Given the description of an element on the screen output the (x, y) to click on. 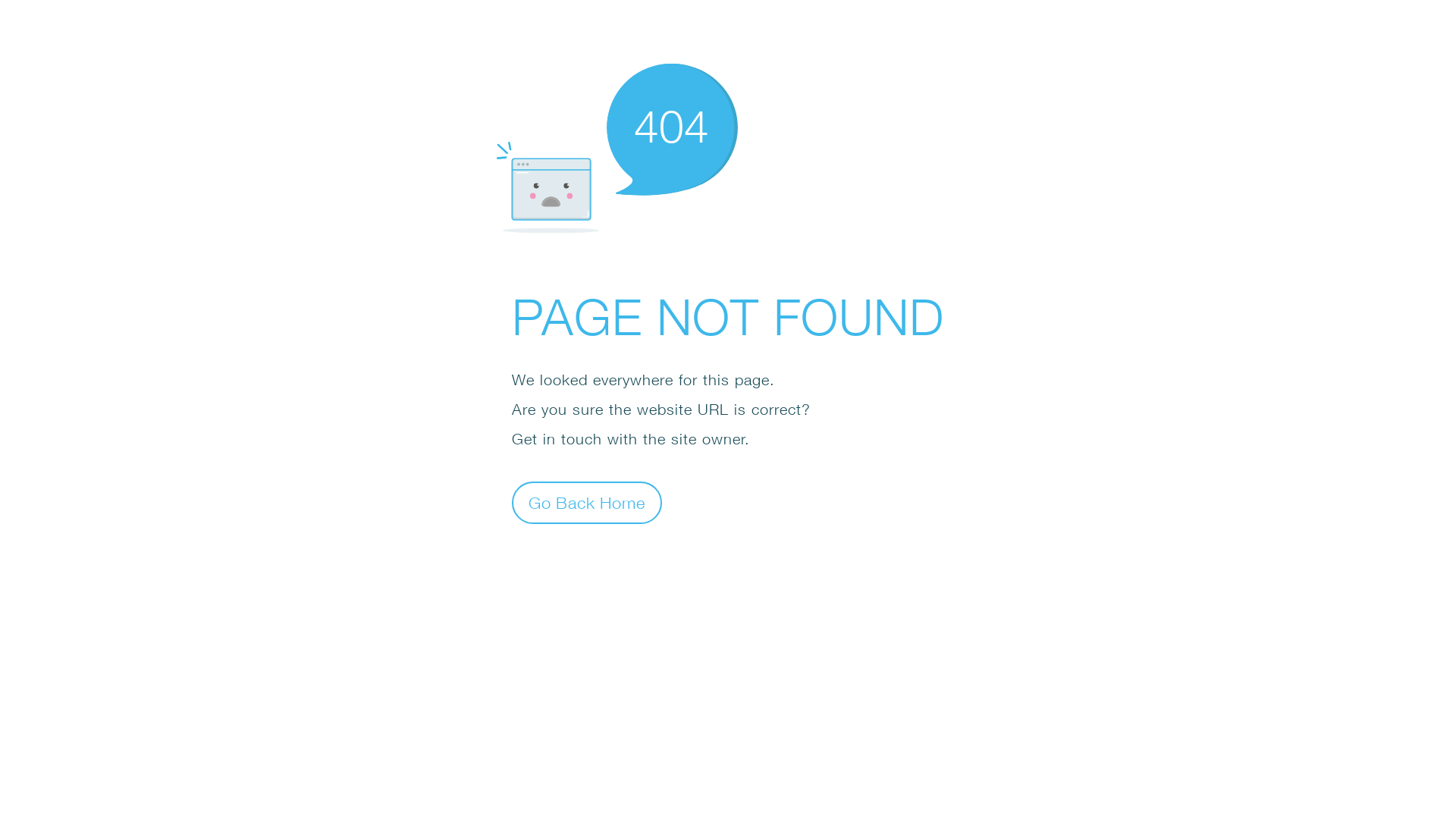
Go Back Home Element type: text (586, 502)
